Given the description of an element on the screen output the (x, y) to click on. 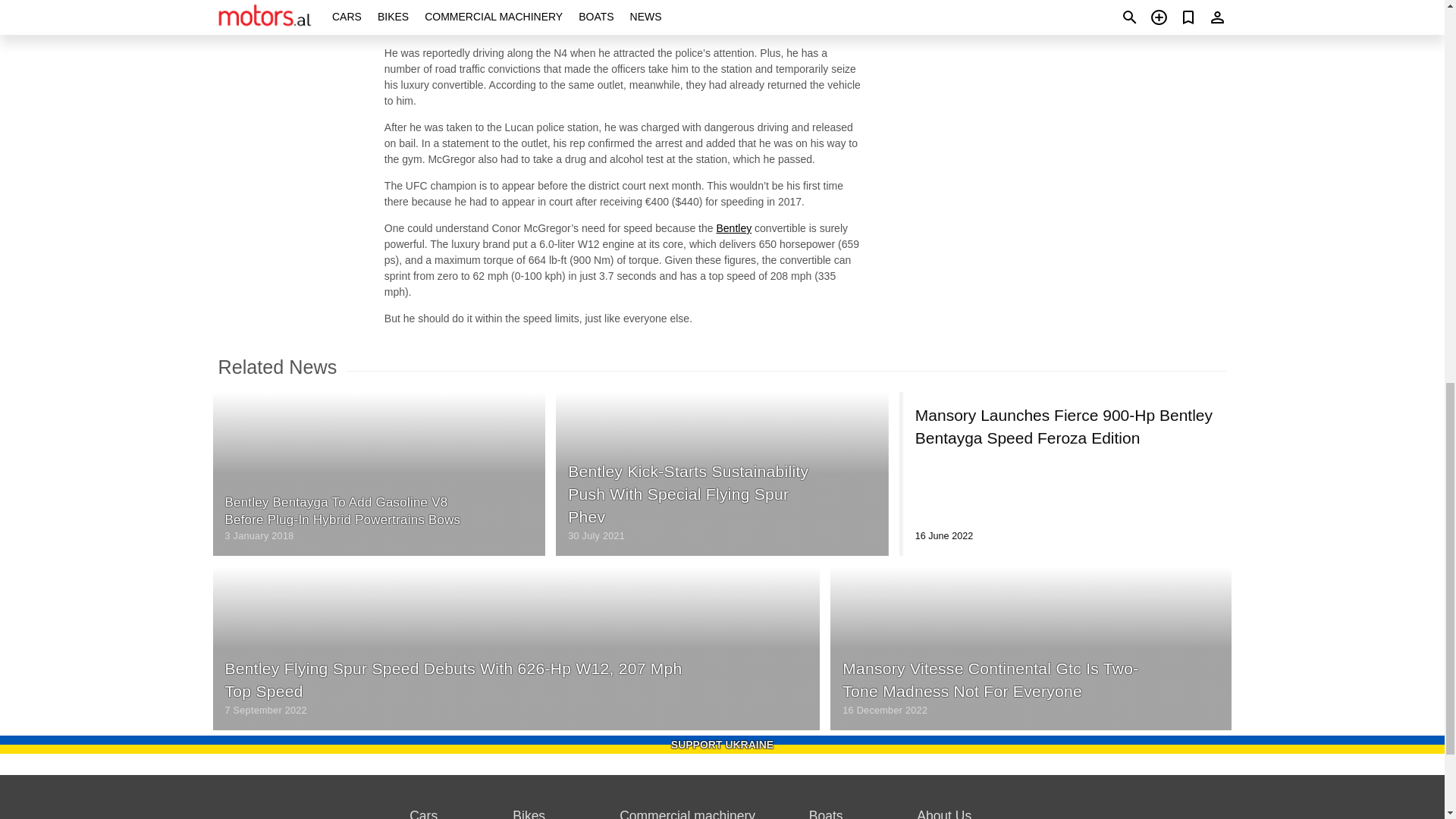
Bentley (733, 227)
all about Bentley in Albania (733, 227)
